Given the description of an element on the screen output the (x, y) to click on. 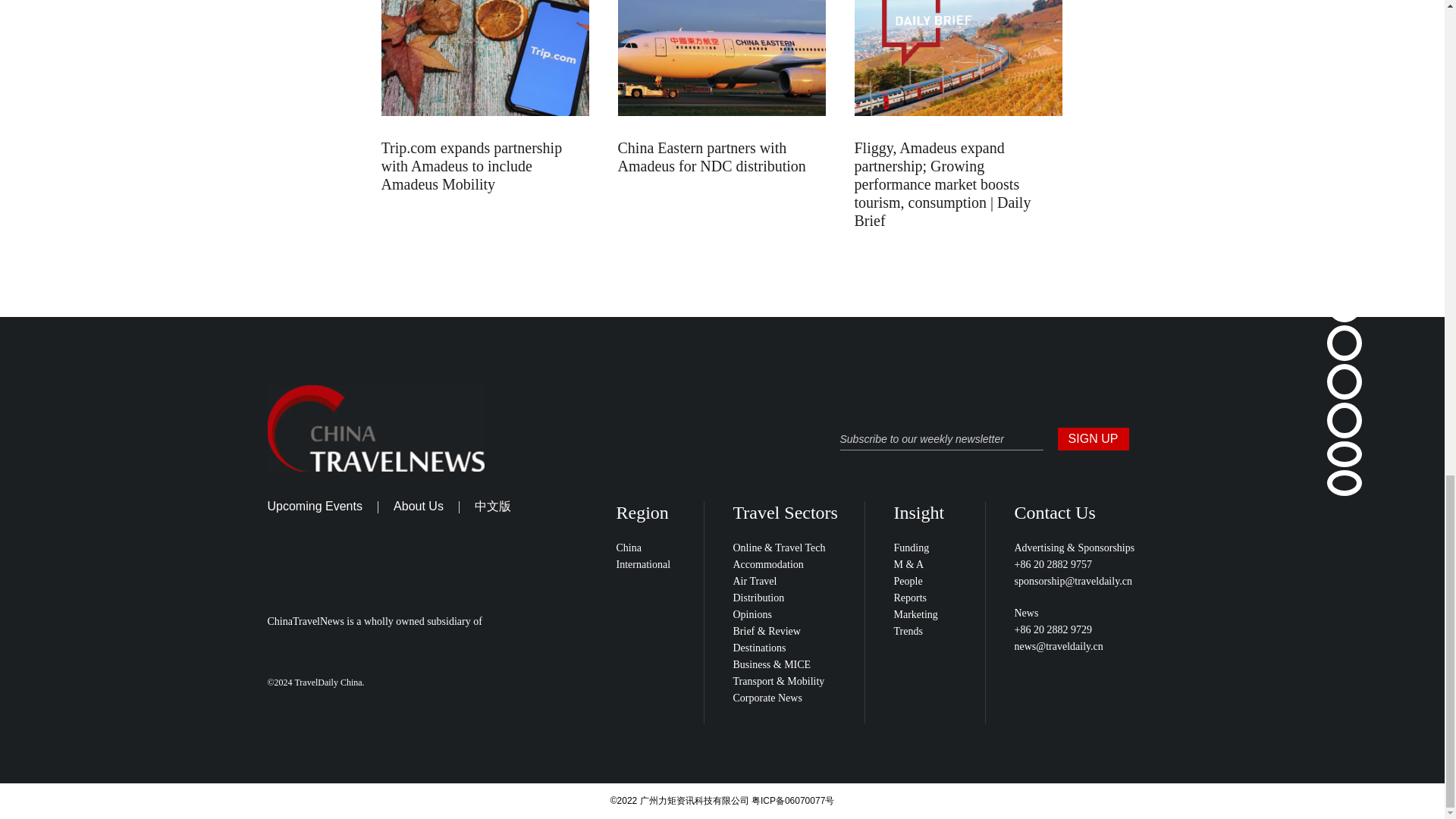
China Eastern partners with Amadeus for NDC distribution (711, 156)
SIGN UP (1092, 438)
About Us (418, 505)
Upcoming Events (313, 505)
